Given the description of an element on the screen output the (x, y) to click on. 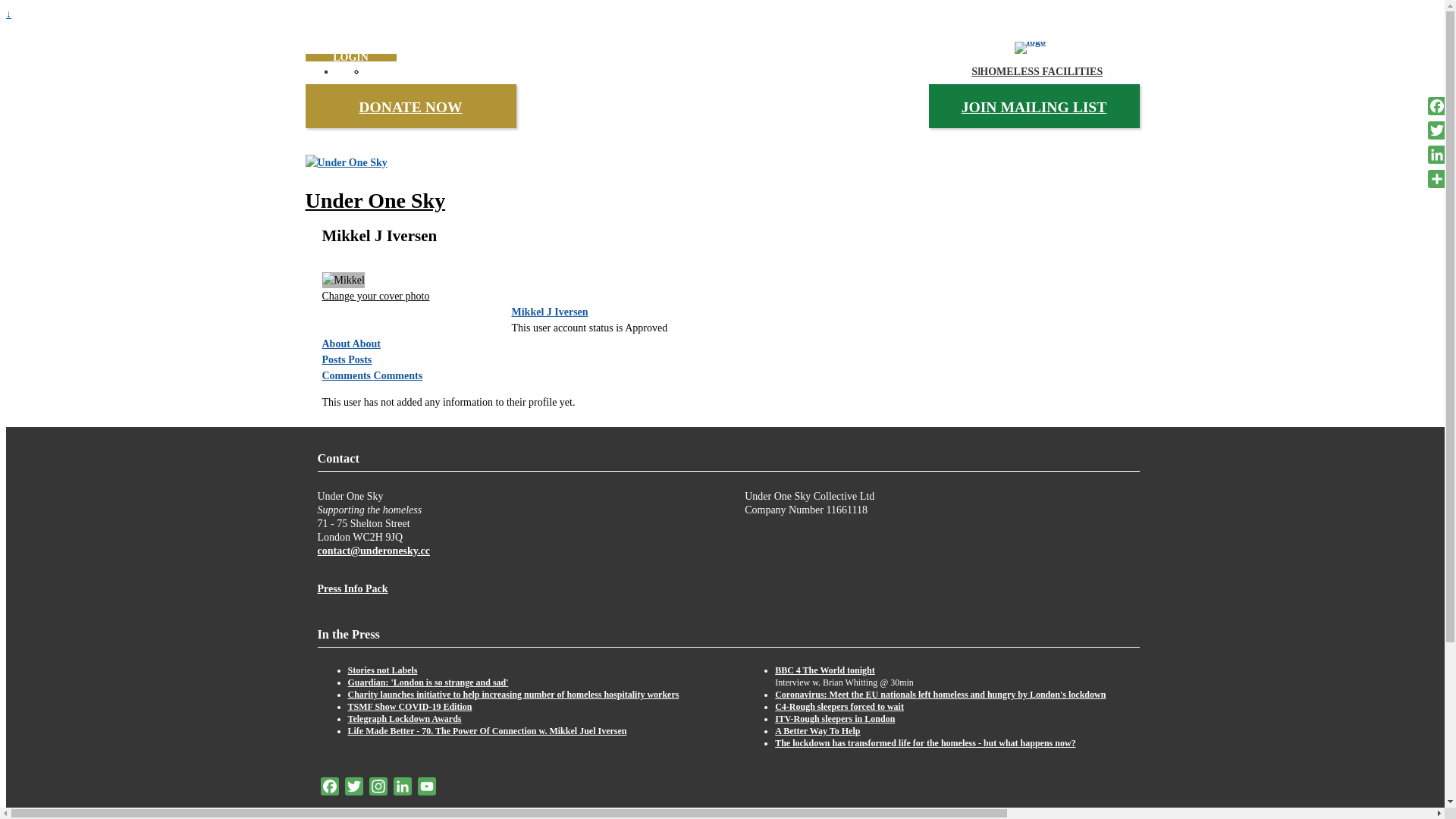
Twitter Element type: text (1436, 130)
UPDATES & STORIES Element type: text (1045, 71)
YouTube Channel Element type: text (426, 788)
Press Info Pack Element type: text (351, 588)
About Element type: text (366, 343)
TSMF Show COVID-19 Edition Element type: text (409, 706)
CONTACT Element type: text (1060, 71)
About Element type: text (336, 343)
ABOUT Element type: text (1044, 71)
LinkedIn Element type: text (1436, 154)
DONATE NOW Element type: text (409, 107)
Posts Element type: text (359, 359)
Telegraph Lockdown Awards Element type: text (404, 718)
Share Element type: text (1436, 178)
HOMELESS FACILITIES Element type: text (1044, 71)
Posts Element type: text (334, 359)
HOME Element type: text (1045, 71)
Comments Element type: text (398, 375)
Instagram Element type: text (377, 788)
JOIN MAILING LIST Element type: text (1034, 107)
OUR STORY Element type: text (1060, 71)
ITV-Rough sleepers in London Element type: text (834, 718)
SKYWALKER DASHBOARD Element type: text (1044, 71)
BBC 4 The World tonight Element type: text (825, 670)
LinkedIn Element type: text (401, 788)
Mikkel J Iversen Element type: text (549, 311)
Comments Element type: text (347, 375)
Under One Sky Element type: text (374, 200)
FAQs Element type: text (1059, 71)
Guardian: 'London is so strange and sad' Element type: text (427, 682)
Facebook Element type: text (328, 788)
Twitter Element type: text (353, 788)
Facebook Element type: text (1436, 106)
A Better Way To Help Element type: text (817, 730)
C4-Rough sleepers forced to wait Element type: text (839, 706)
contact@underonesky.cc Element type: text (372, 550)
Stories not Labels Element type: text (382, 670)
LOGIN Element type: text (350, 56)
